Given the description of an element on the screen output the (x, y) to click on. 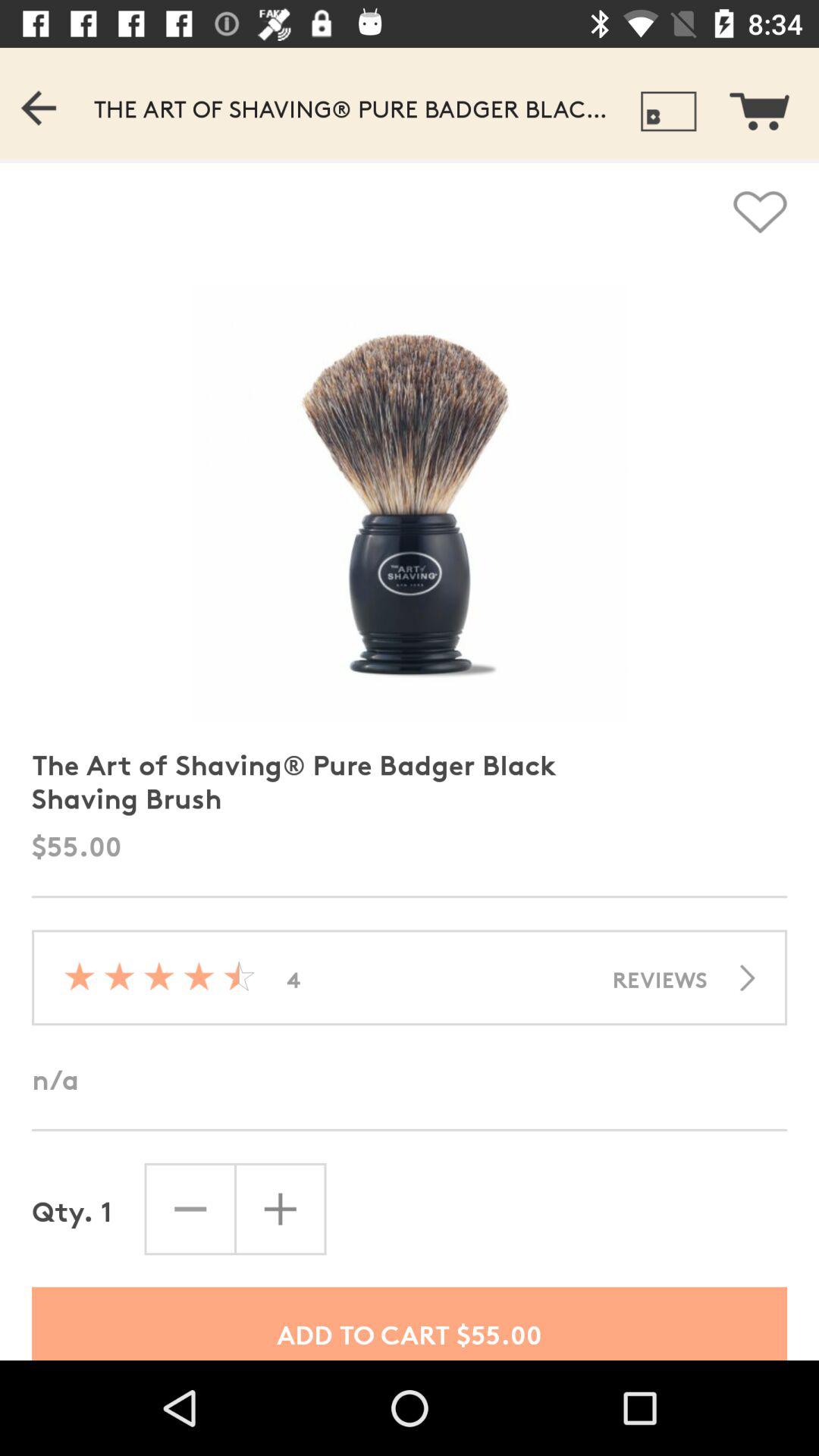
press item below qty. 1 (409, 1323)
